Given the description of an element on the screen output the (x, y) to click on. 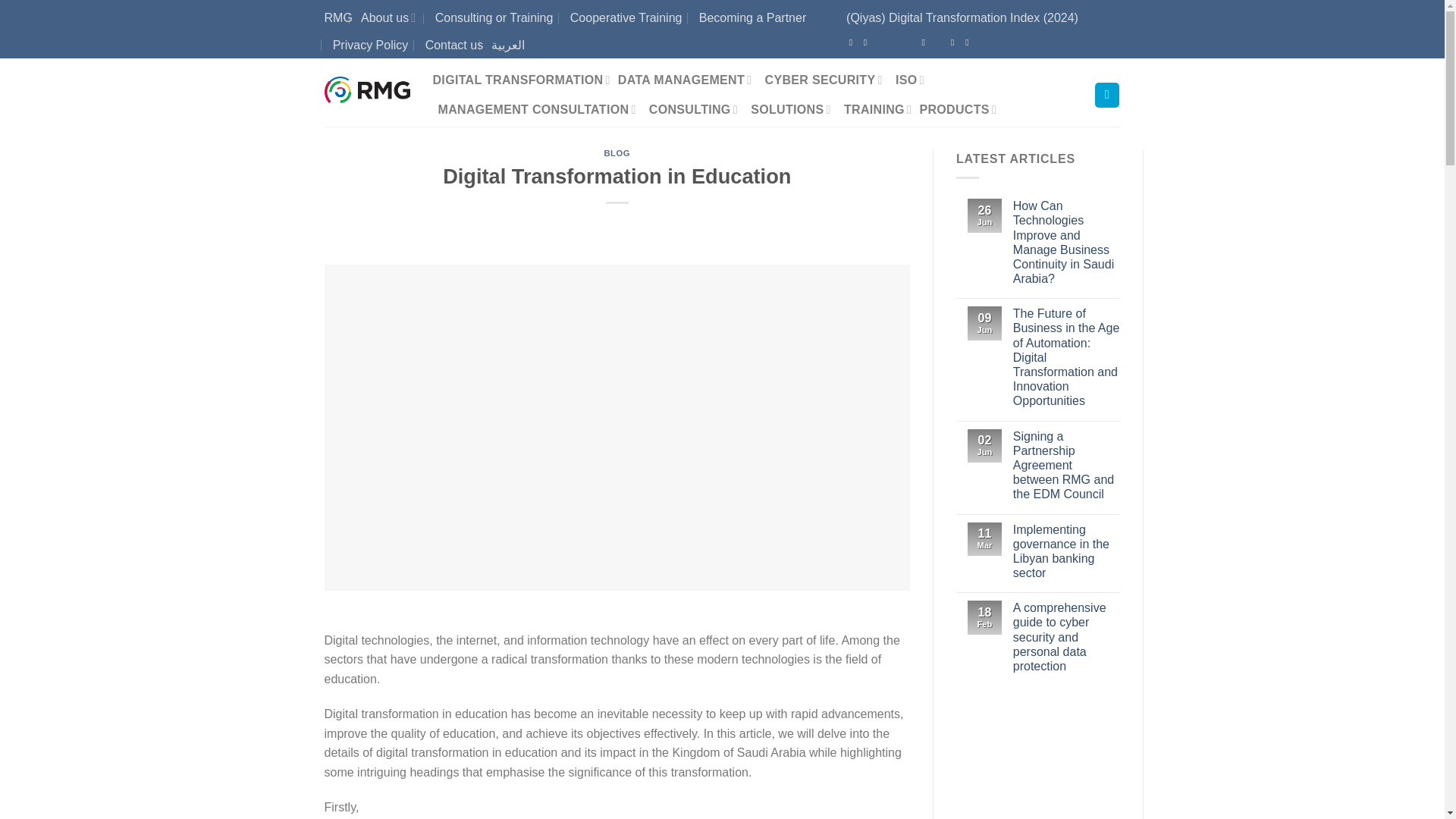
About us (389, 17)
Consulting or Training (494, 17)
Becoming a Partner (752, 17)
Contact us (454, 44)
Cooperative Training (626, 17)
Privacy Policy (371, 44)
RMG (338, 17)
